Given the description of an element on the screen output the (x, y) to click on. 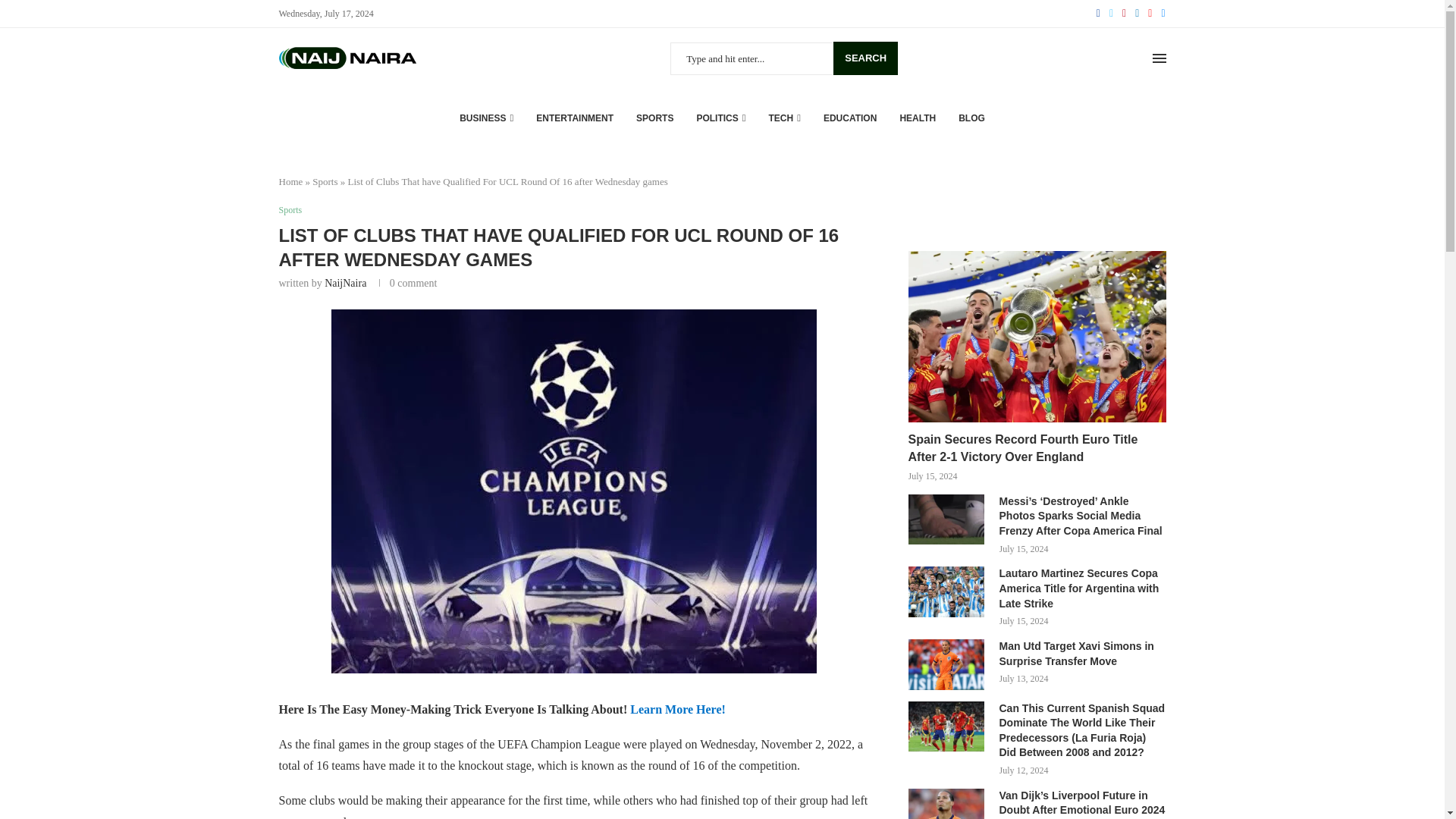
SEARCH (865, 57)
ENTERTAINMENT (573, 118)
BUSINESS (486, 118)
POLITICS (720, 118)
EDUCATION (850, 118)
